Given the description of an element on the screen output the (x, y) to click on. 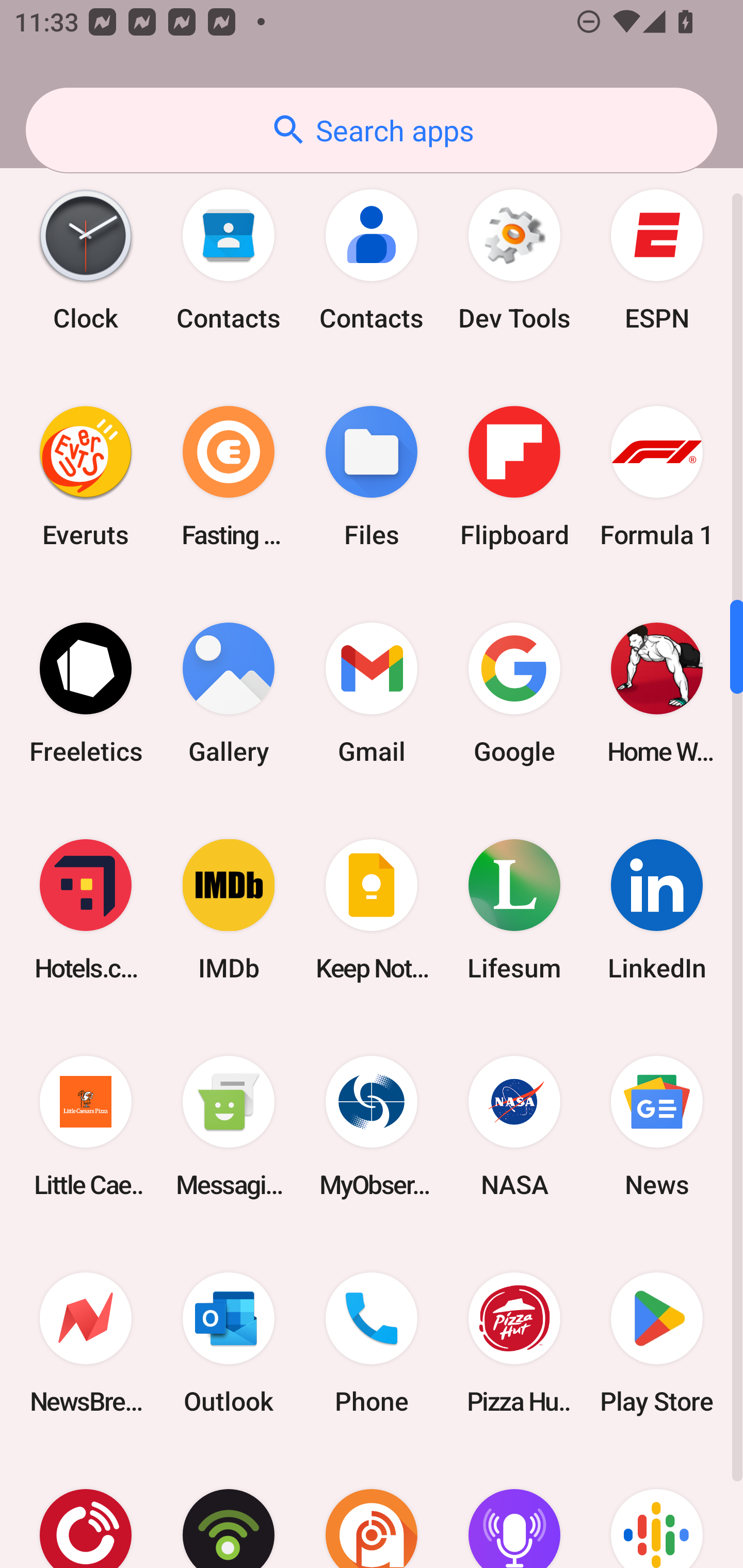
  Search apps (371, 130)
Clock (85, 260)
Contacts (228, 260)
Contacts (371, 260)
Dev Tools (514, 260)
ESPN (656, 260)
Everuts (85, 476)
Fasting Coach (228, 476)
Files (371, 476)
Flipboard (514, 476)
Formula 1 (656, 476)
Freeletics (85, 692)
Gallery (228, 692)
Gmail (371, 692)
Google (514, 692)
Home Workout (656, 692)
Hotels.com (85, 909)
IMDb (228, 909)
Keep Notes (371, 909)
Lifesum (514, 909)
LinkedIn (656, 909)
Little Caesars Pizza (85, 1126)
Messaging (228, 1126)
MyObservatory (371, 1126)
NASA (514, 1126)
News (656, 1126)
NewsBreak (85, 1343)
Outlook (228, 1343)
Phone (371, 1343)
Pizza Hut HK & Macau (514, 1343)
Play Store (656, 1343)
Player FM (85, 1509)
Podbean (228, 1509)
Podcast Addict (371, 1509)
Podcast Player (514, 1509)
Podcasts (656, 1509)
